Given the description of an element on the screen output the (x, y) to click on. 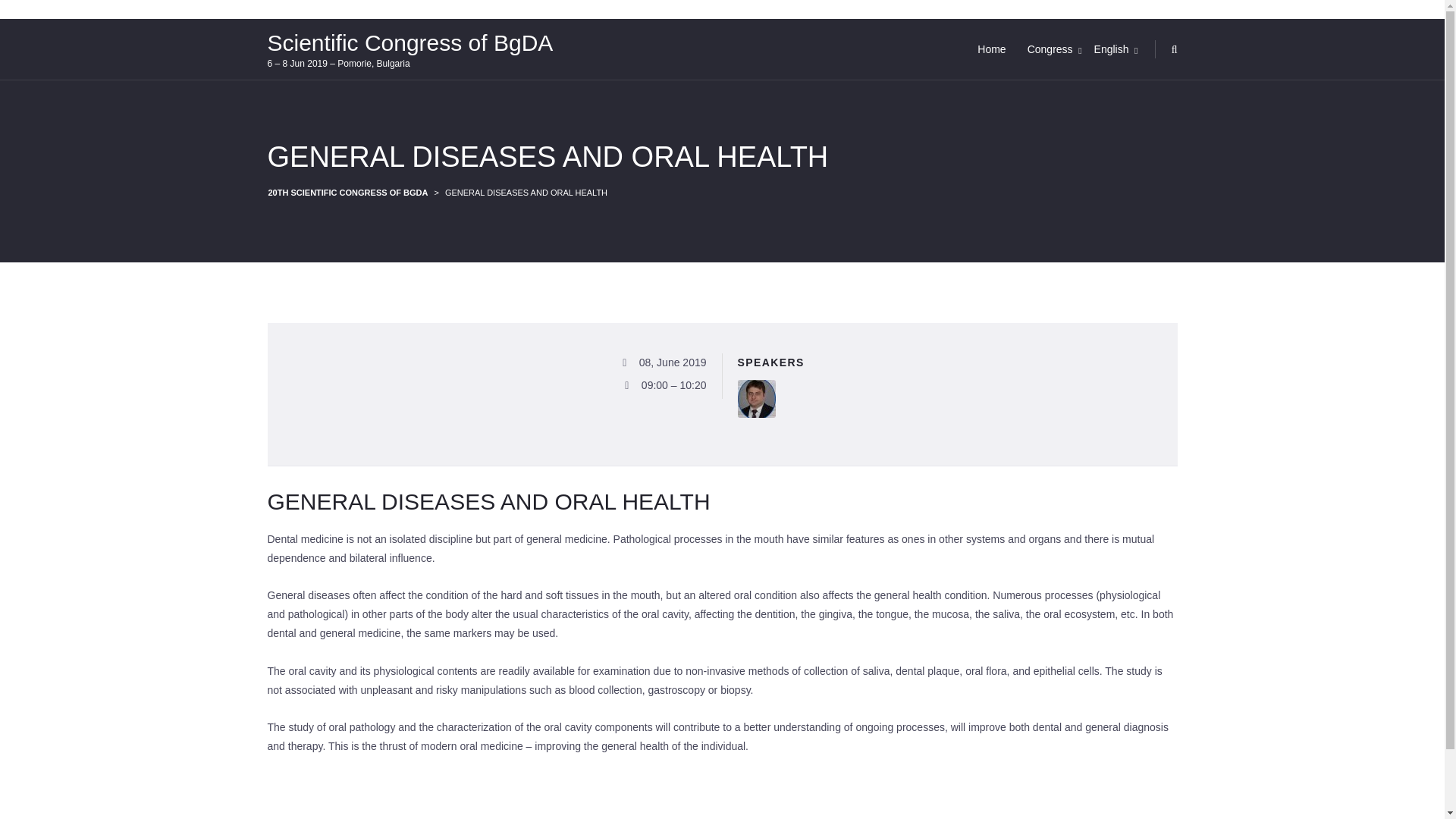
Congress (1049, 48)
19th Scientific Congress of BgDA (409, 42)
Go to 20th Scientific Congress of BgDA. (347, 192)
English (1111, 48)
20TH SCIENTIFIC CONGRESS OF BGDA (347, 192)
Scientific Congress of BgDA (409, 42)
